Given the description of an element on the screen output the (x, y) to click on. 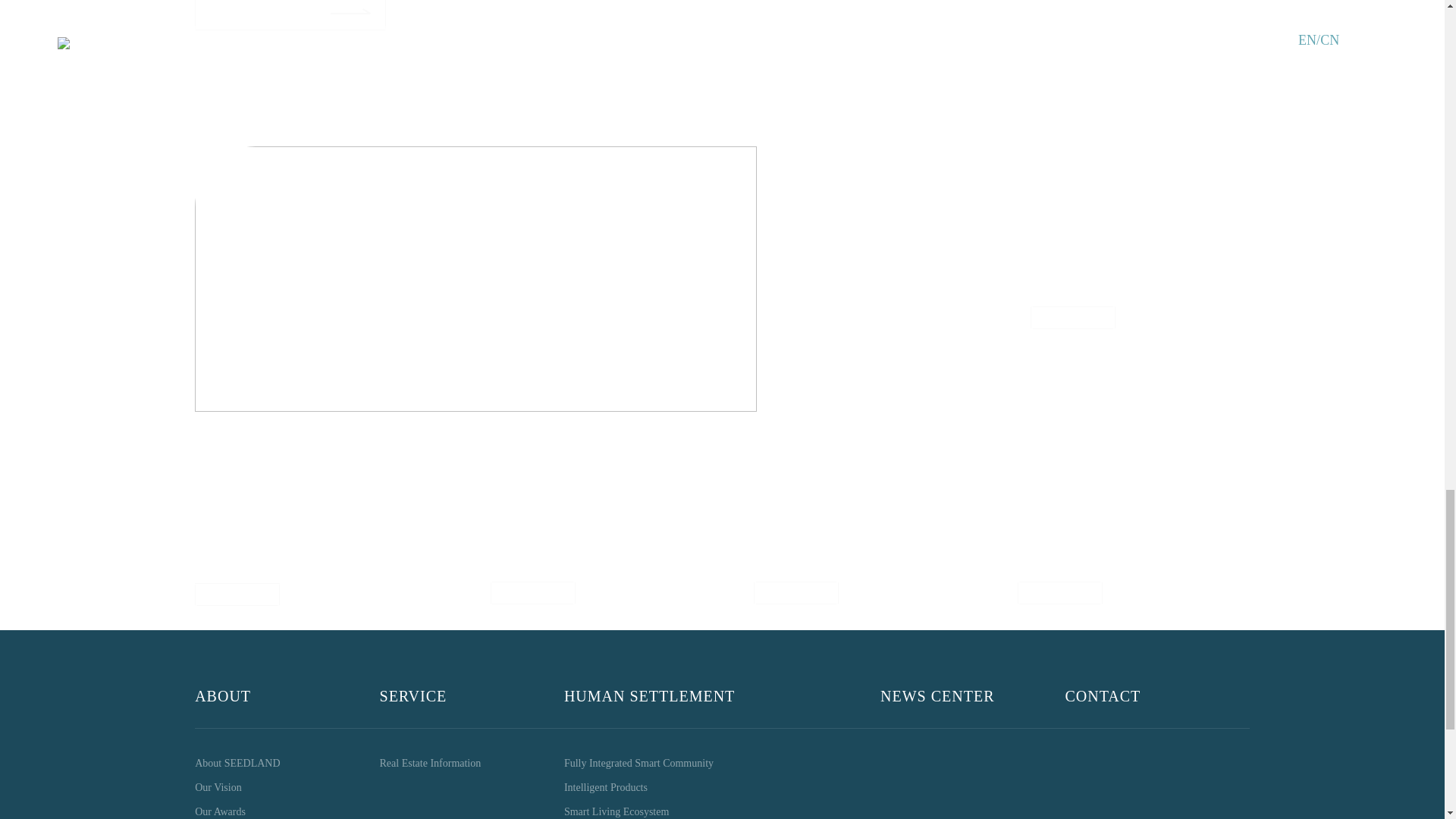
EXPLORE (532, 592)
EXPLORE (795, 592)
EXPLORE (1072, 317)
EXPLORE (1059, 592)
About SEEDLAND (286, 763)
EXPLORE (237, 594)
